Given the description of an element on the screen output the (x, y) to click on. 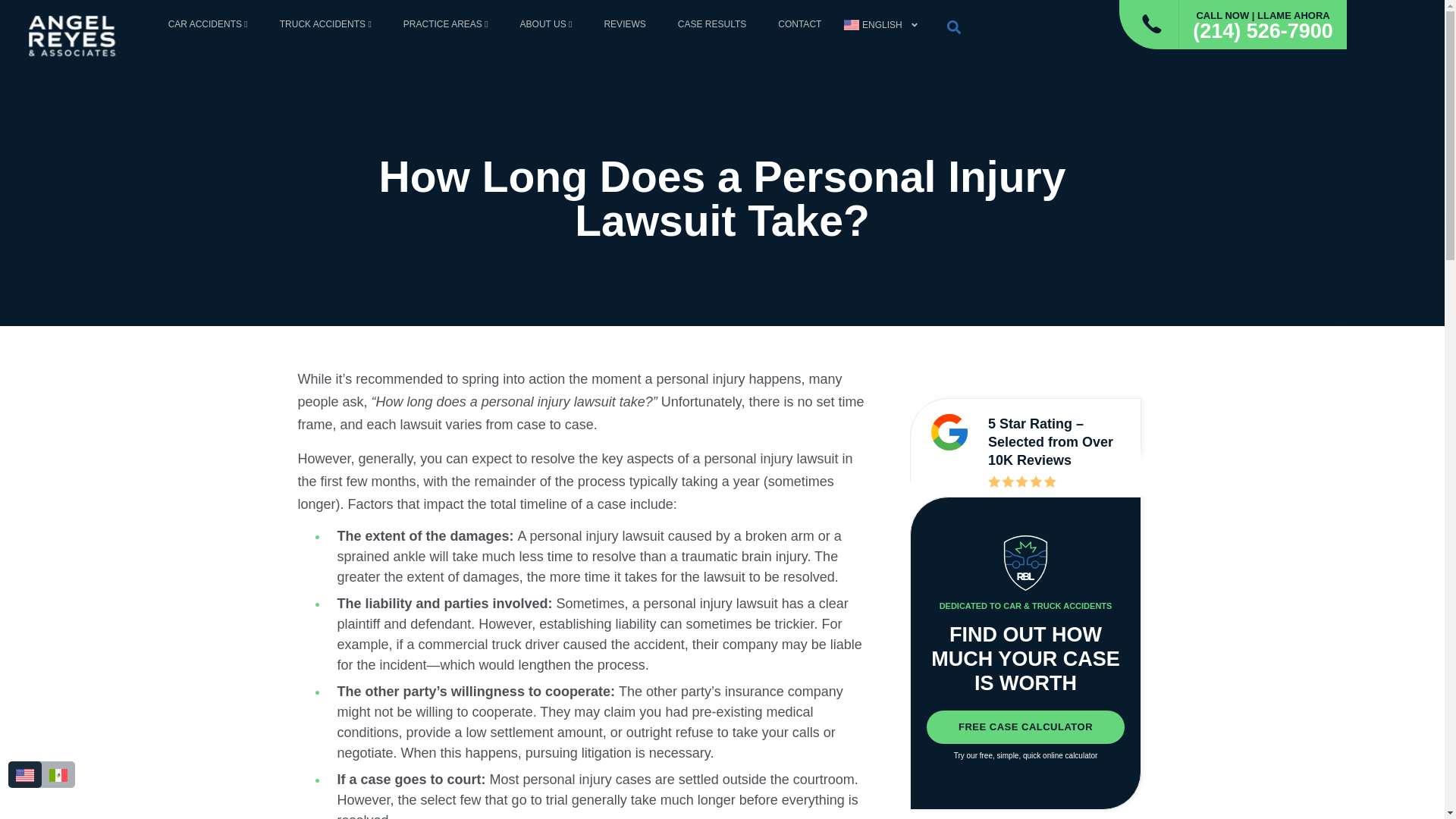
ABOUT US (545, 23)
View our testimonials (949, 432)
CAR ACCIDENTS (208, 23)
Call Us (1152, 24)
PRACTICE AREAS (446, 23)
TRUCK ACCIDENTS (325, 23)
English (880, 24)
